Given the description of an element on the screen output the (x, y) to click on. 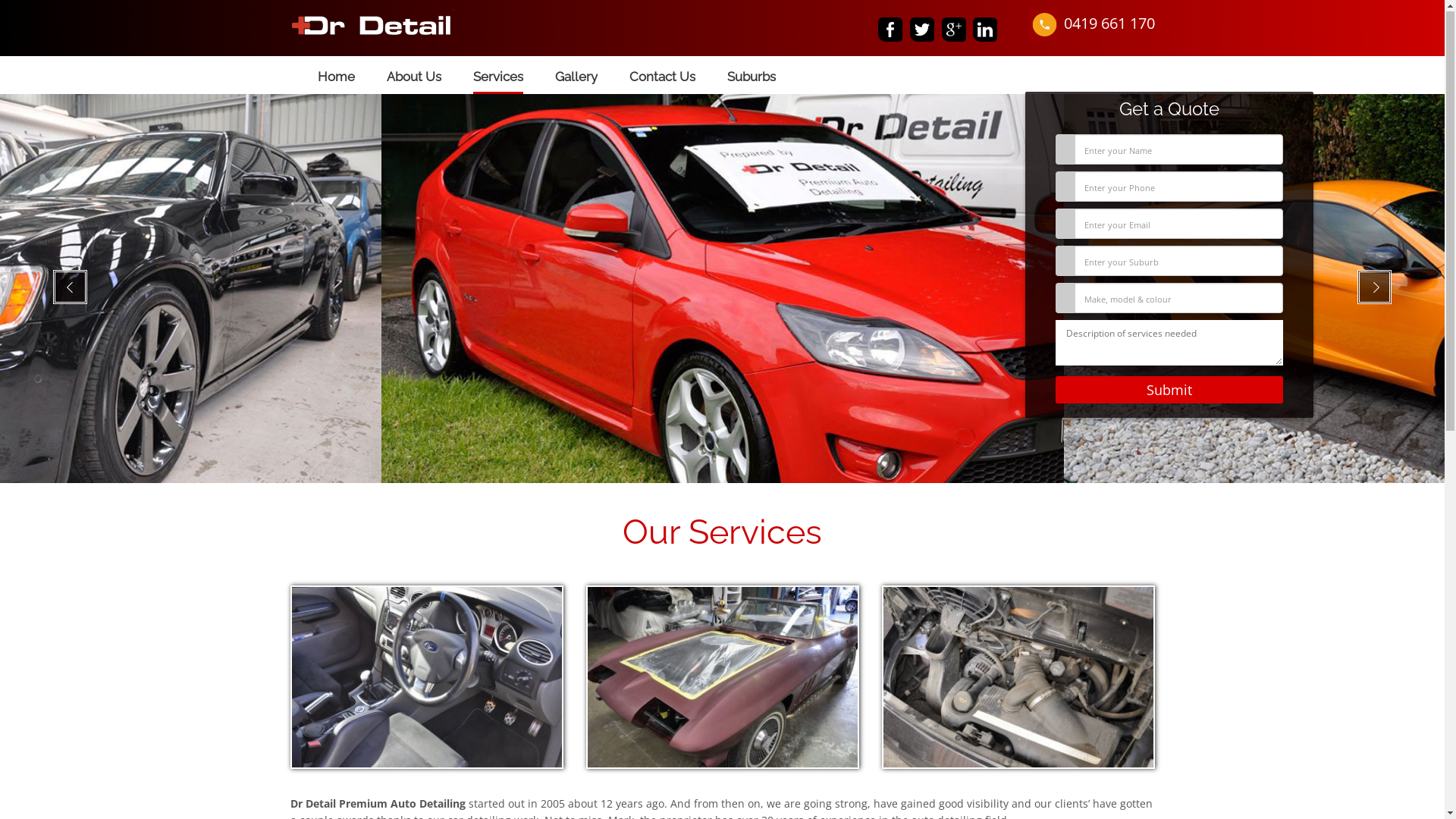
Car Seats Cleaning Sydney Element type: hover (721, 288)
Home Element type: text (335, 75)
Suburbs Element type: text (750, 75)
Contact Us Element type: text (662, 75)
About Us Element type: text (413, 75)
Car Interior Detailing Sydney Element type: hover (371, 26)
Services Element type: text (498, 75)
Gallery Element type: text (576, 75)
Submit Element type: text (1169, 390)
